Given the description of an element on the screen output the (x, y) to click on. 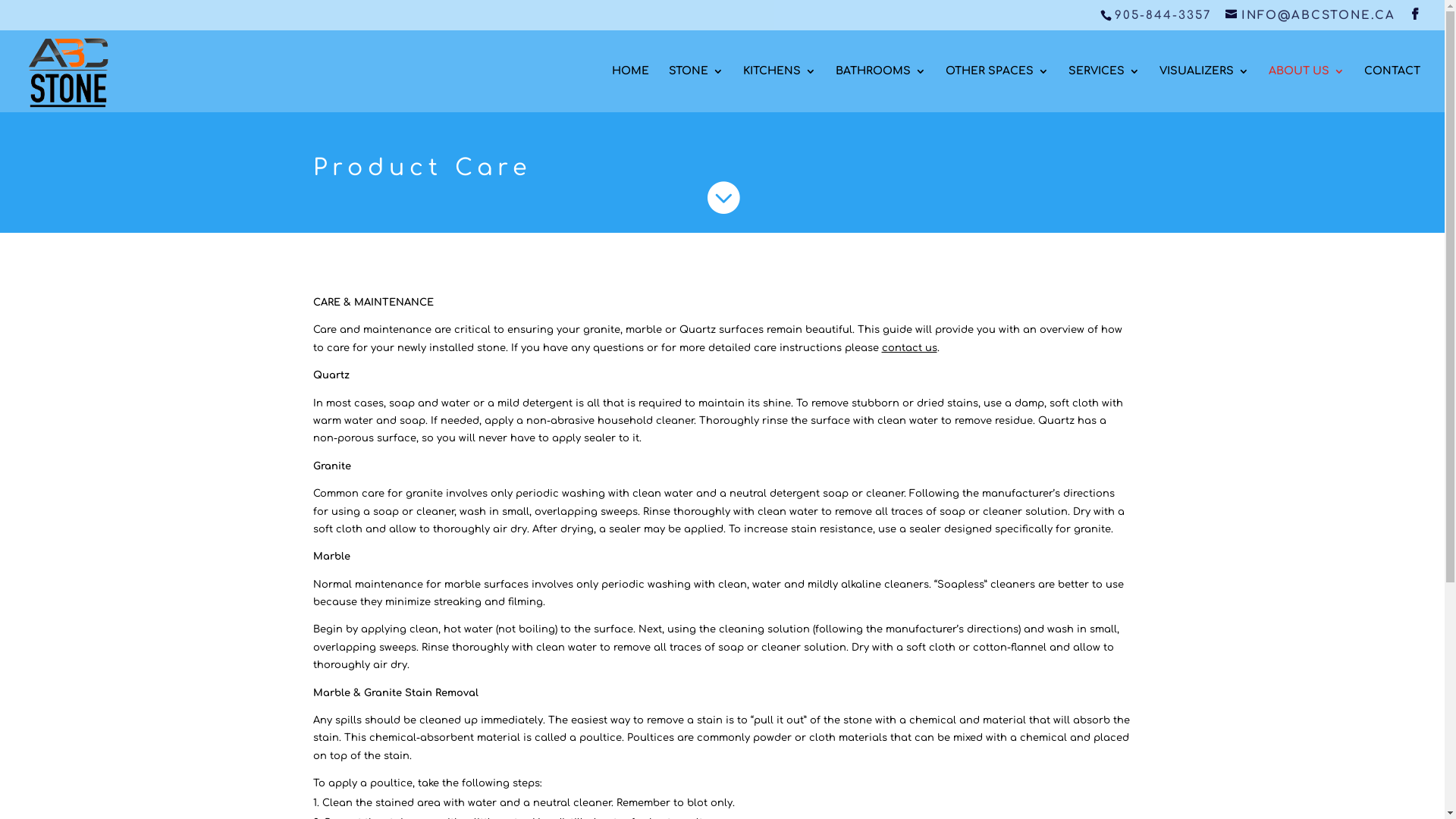
HOME Element type: text (630, 88)
BATHROOMS Element type: text (880, 88)
ABOUT US Element type: text (1306, 88)
CONTACT Element type: text (1392, 88)
INFO@ABCSTONE.CA Element type: text (1310, 15)
KITCHENS Element type: text (779, 88)
OTHER SPACES Element type: text (996, 88)
STONE Element type: text (695, 88)
SERVICES Element type: text (1103, 88)
VISUALIZERS Element type: text (1203, 88)
